Given the description of an element on the screen output the (x, y) to click on. 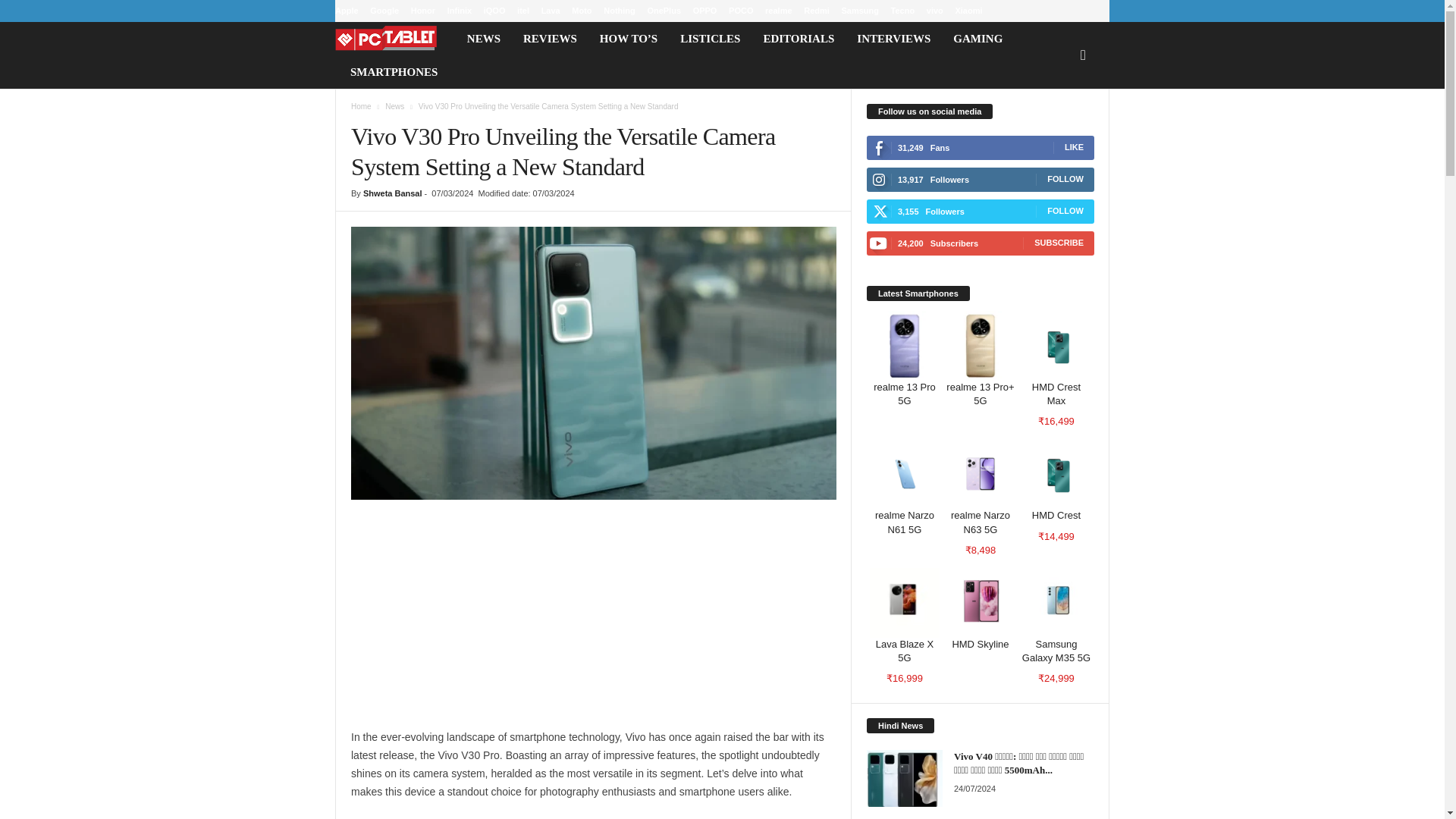
POCO (740, 10)
iQOO (494, 10)
Google (383, 10)
vivo (934, 10)
OnePlus (663, 10)
LISTICLES (709, 38)
Moto (581, 10)
GAMING (977, 38)
Apple (346, 10)
Samsung (860, 10)
EDITORIALS (798, 38)
Tecno (903, 10)
SMARTPHONES (393, 71)
realme (778, 10)
PC-Tablet India (394, 39)
